Given the description of an element on the screen output the (x, y) to click on. 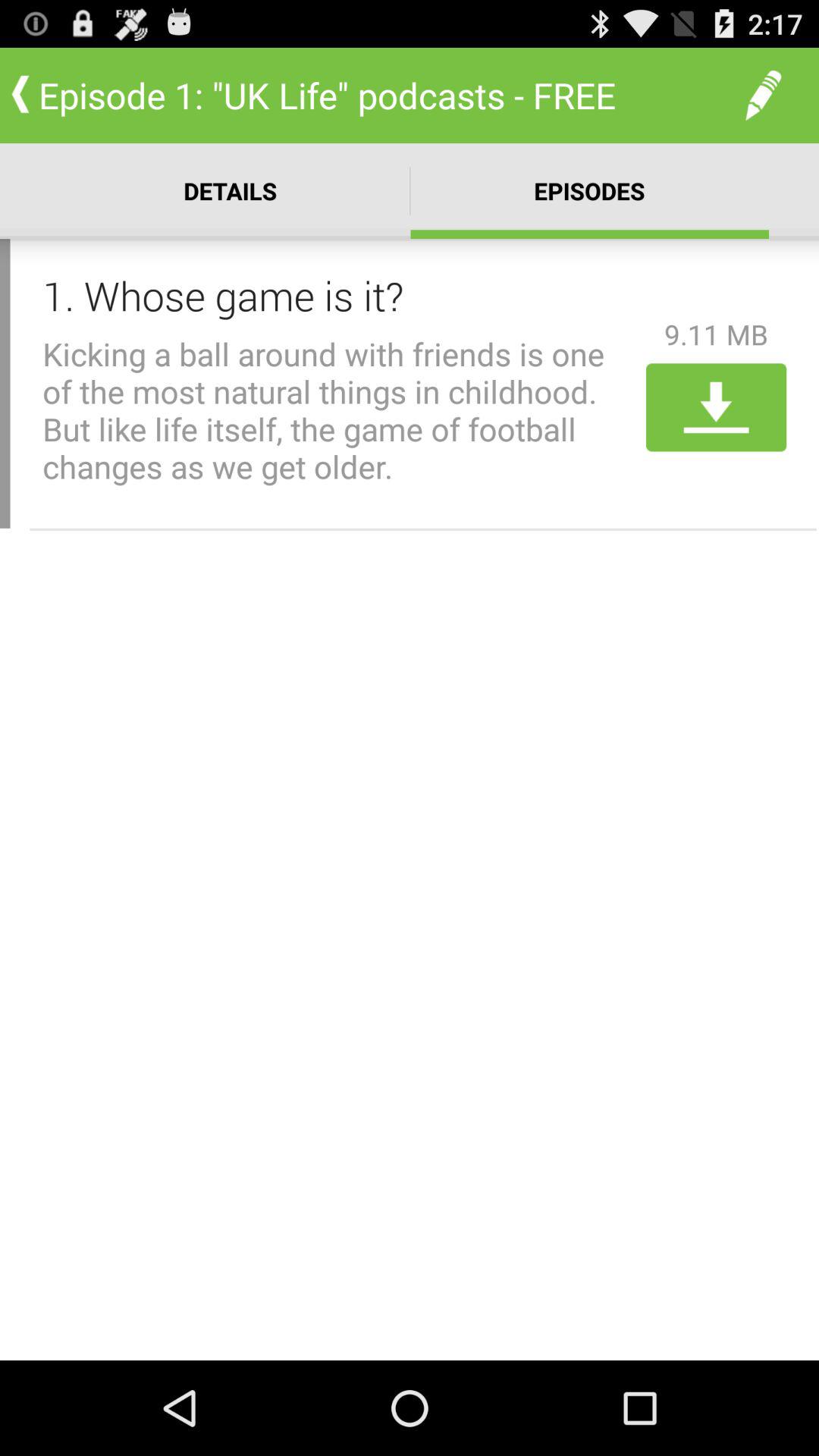
select 9.11 mb (716, 334)
